Given the description of an element on the screen output the (x, y) to click on. 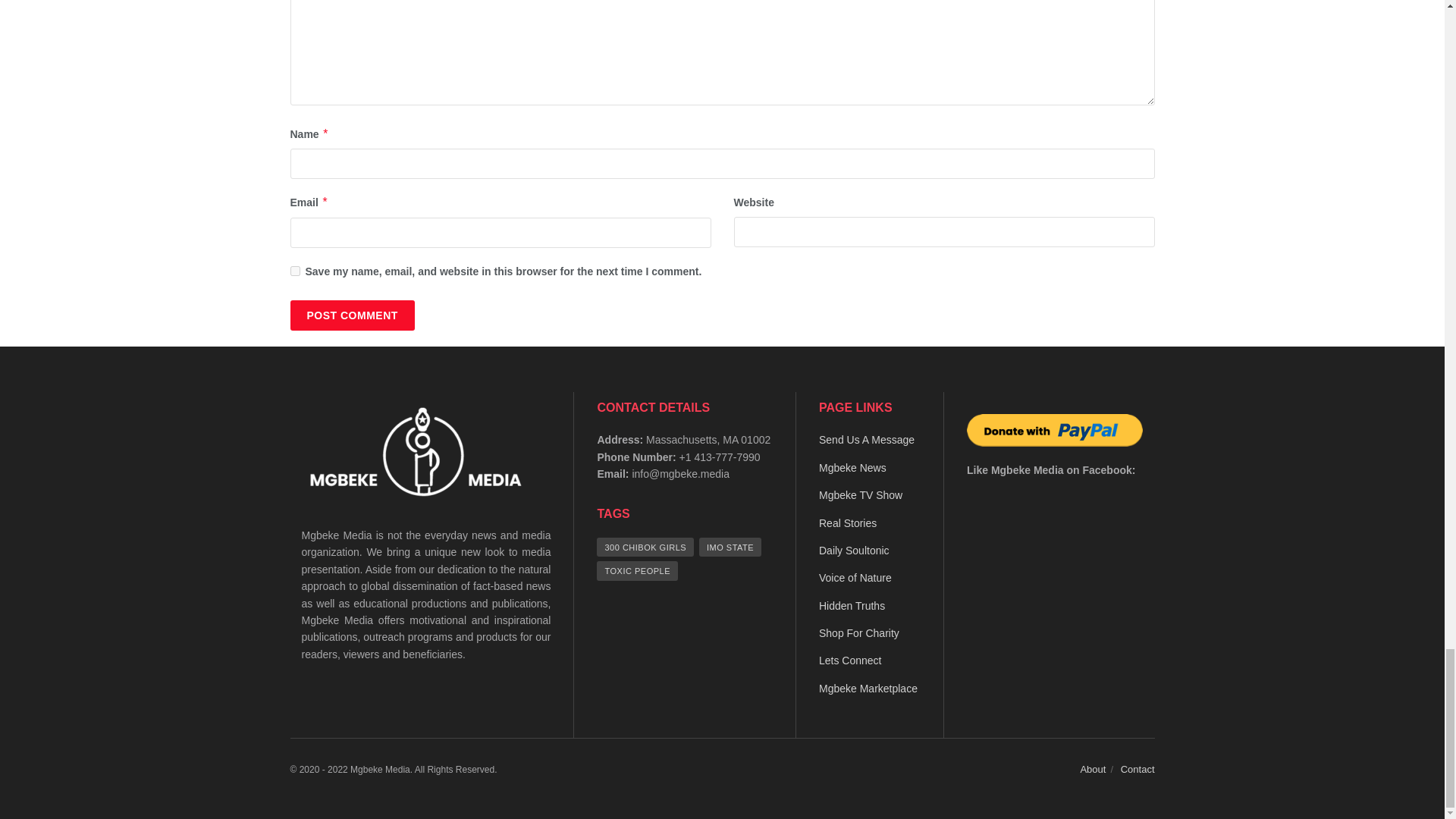
yes (294, 271)
Post Comment (351, 315)
